Given the description of an element on the screen output the (x, y) to click on. 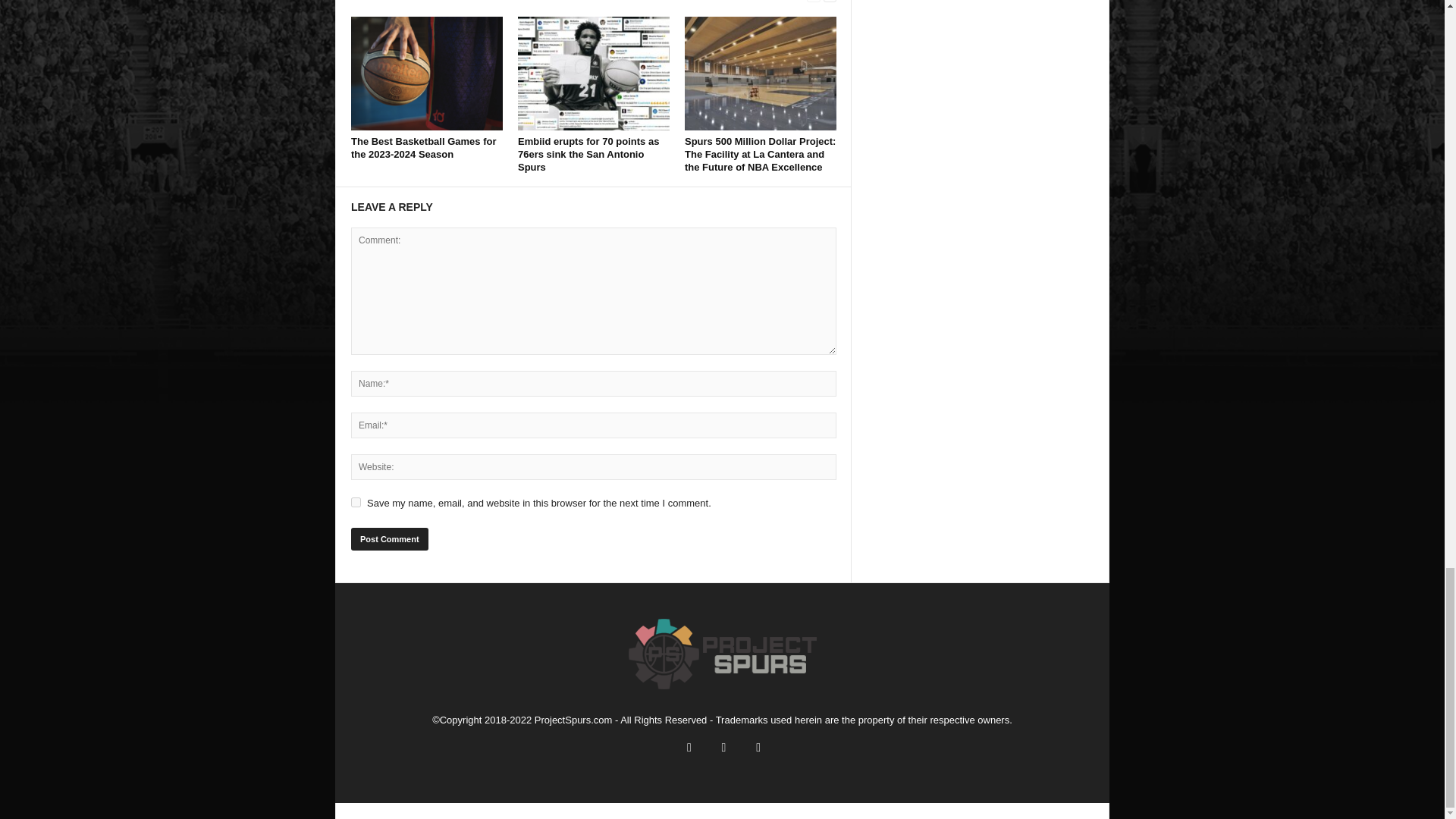
yes (355, 501)
Post Comment (389, 538)
